Given the description of an element on the screen output the (x, y) to click on. 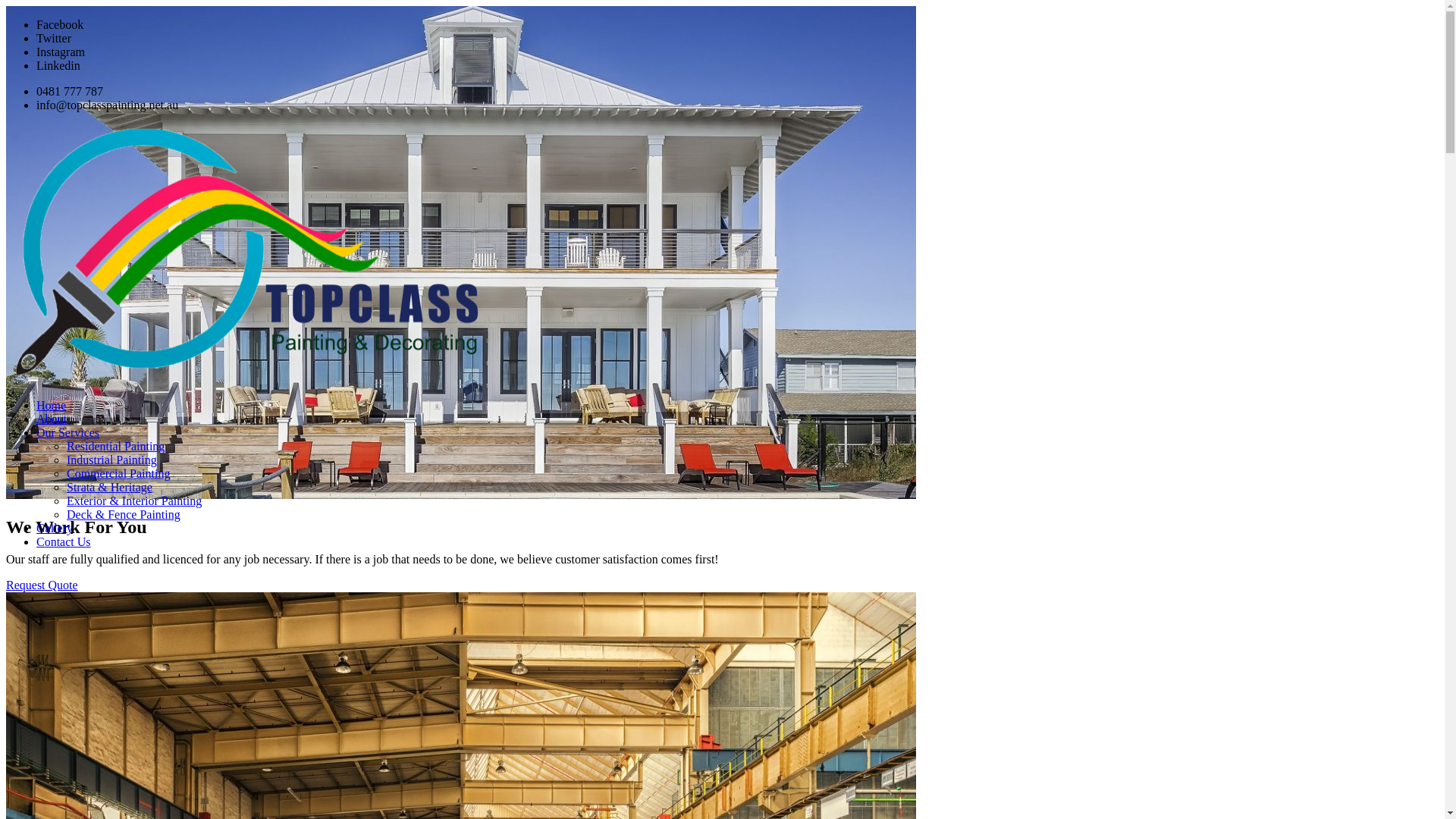
Contact Us Element type: text (63, 541)
Home Element type: text (50, 404)
Residential Painting Element type: text (115, 445)
Instagram Element type: text (60, 51)
Commercial Painting Element type: text (117, 473)
Linkedin Element type: text (58, 65)
Deck & Fence Painting Element type: text (123, 514)
Strata & Heritage Element type: text (109, 486)
Request Quote Element type: text (42, 584)
Our Services Element type: text (67, 432)
Exterior & Interior Painting Element type: text (133, 500)
About Element type: text (51, 418)
Industrial Painting Element type: text (111, 459)
Twitter Element type: text (53, 37)
Gallery Element type: text (54, 527)
Facebook Element type: text (59, 24)
